Given the description of an element on the screen output the (x, y) to click on. 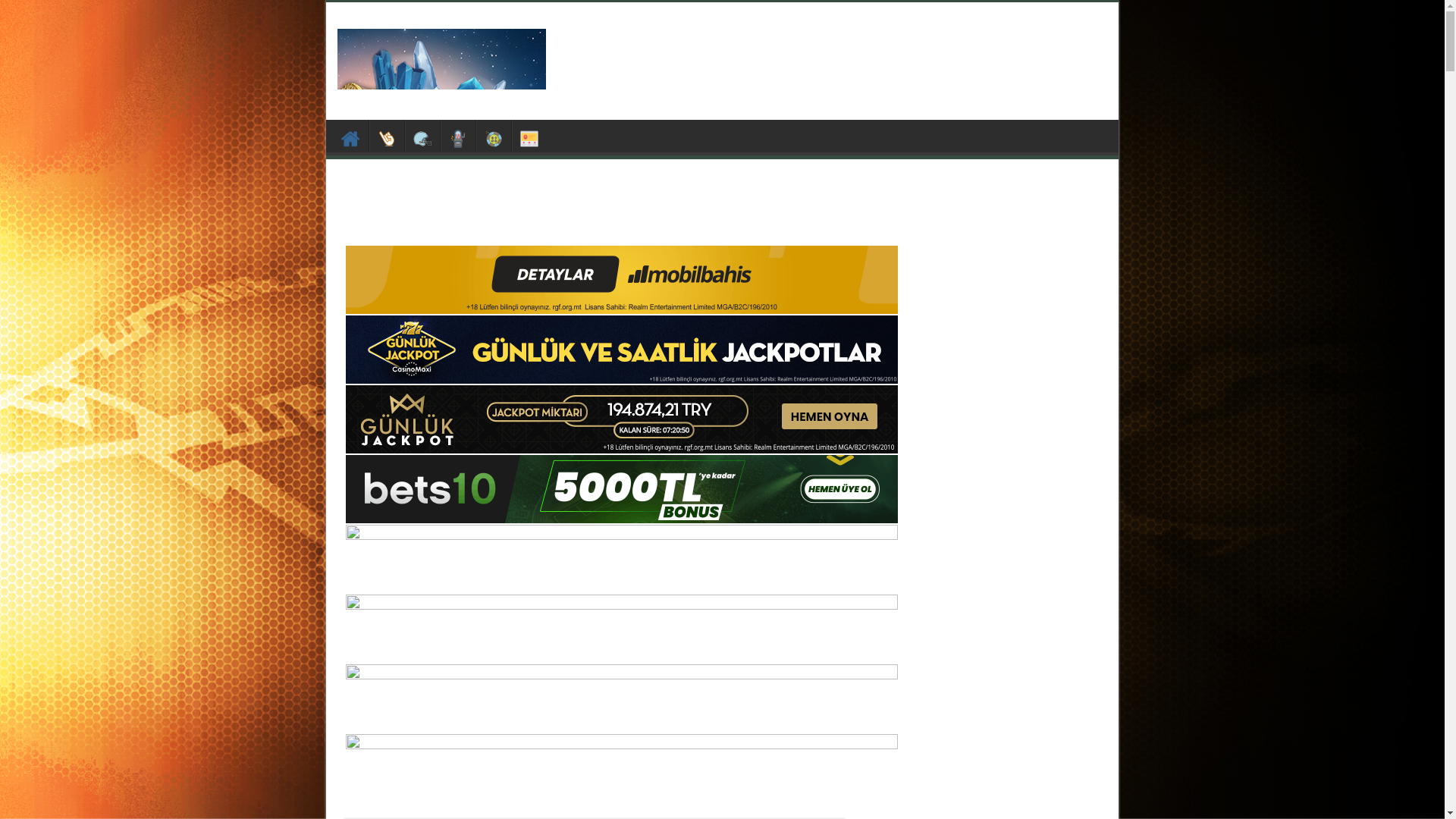
  Element type: text (528, 135)
  Element type: text (421, 135)
  Element type: text (386, 135)
  Element type: text (493, 135)
  Element type: text (457, 135)
  Element type: text (350, 135)
